Given the description of an element on the screen output the (x, y) to click on. 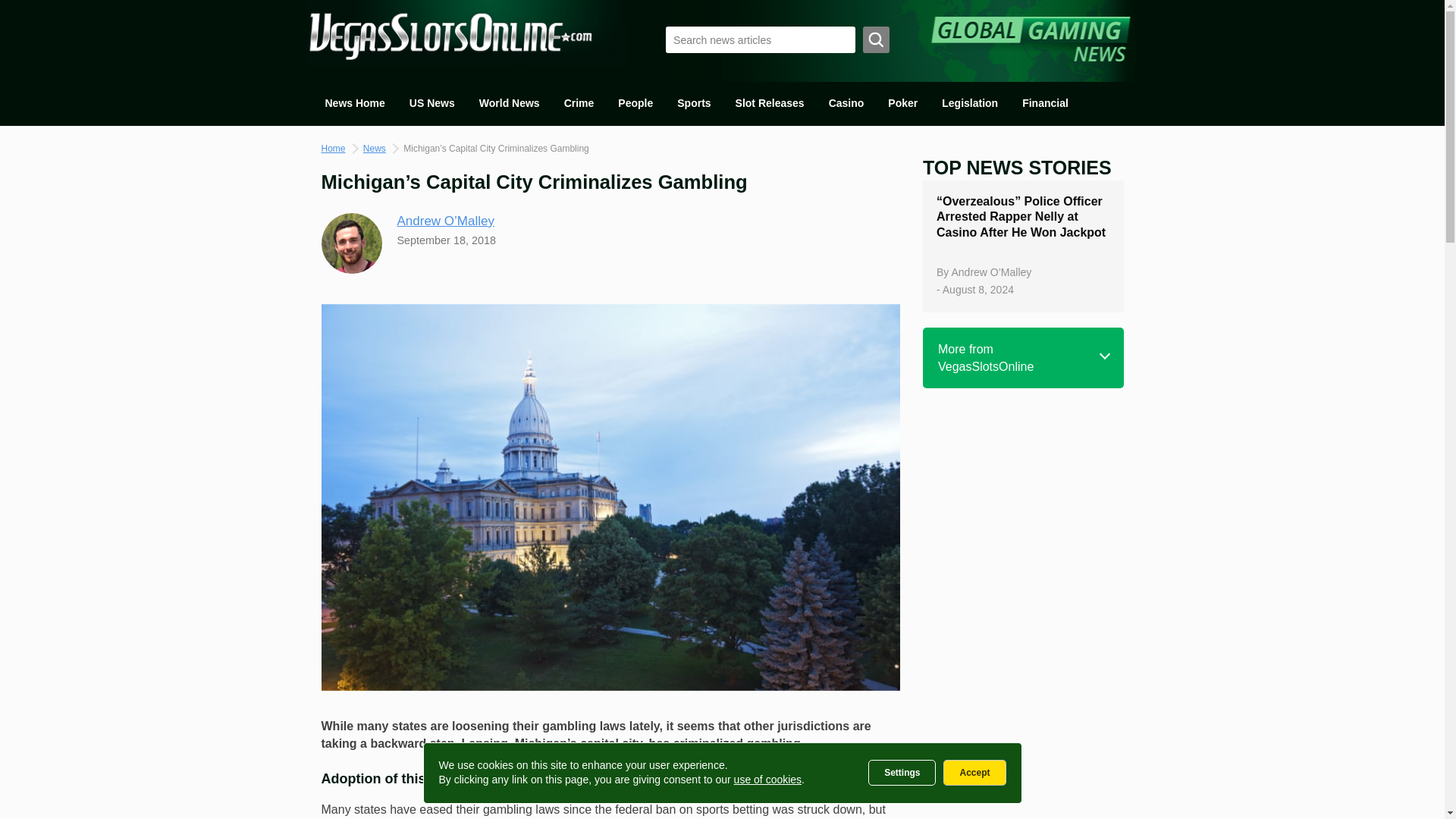
Poker (903, 103)
News (373, 148)
Sports (693, 103)
Financial (1045, 103)
US News (432, 103)
Slot Releases (769, 103)
Casino (846, 103)
Legislation (970, 103)
Crime (579, 103)
Home (333, 148)
